Given the description of an element on the screen output the (x, y) to click on. 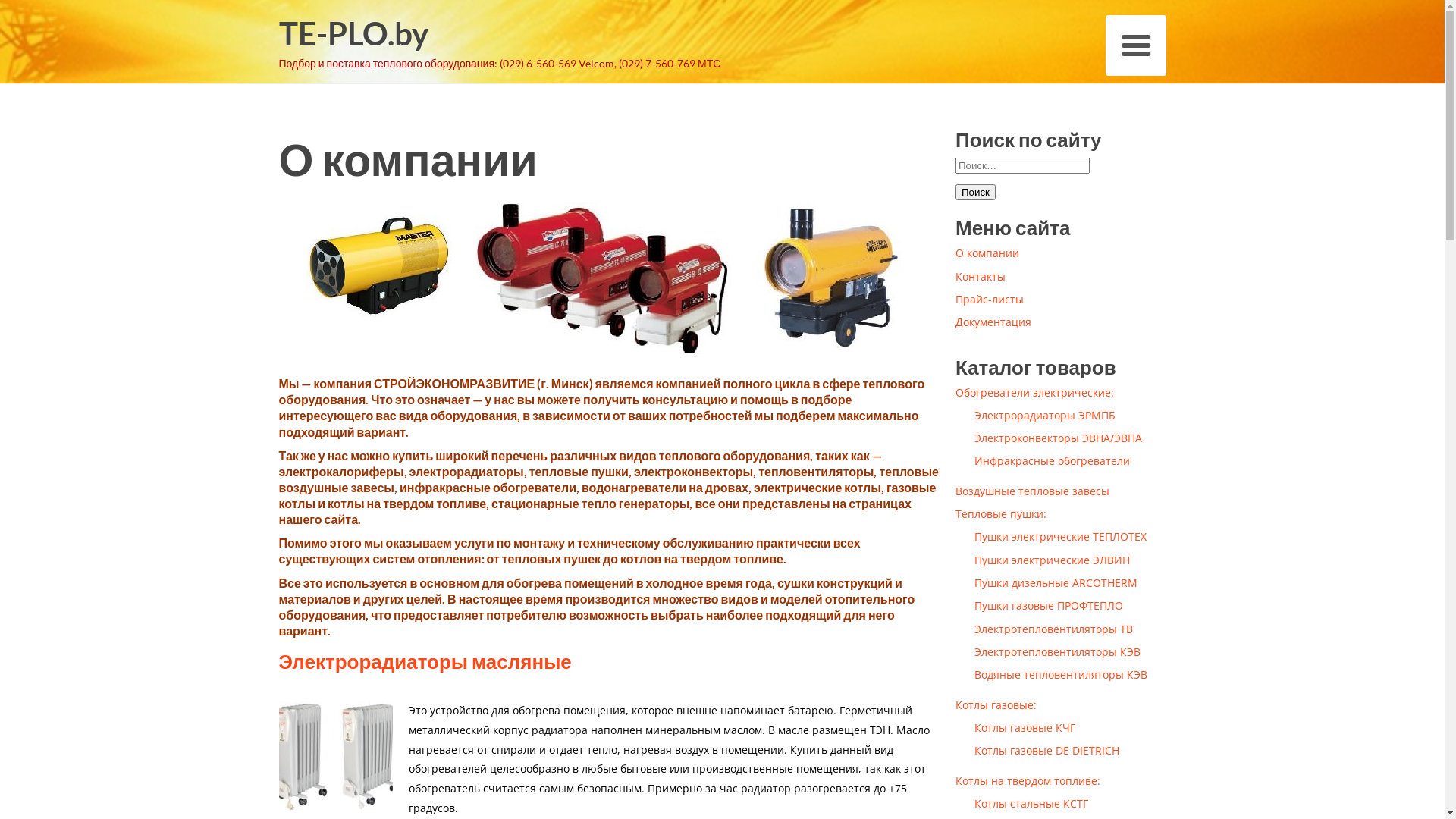
TE-PLO.by Element type: text (500, 34)
